Given the description of an element on the screen output the (x, y) to click on. 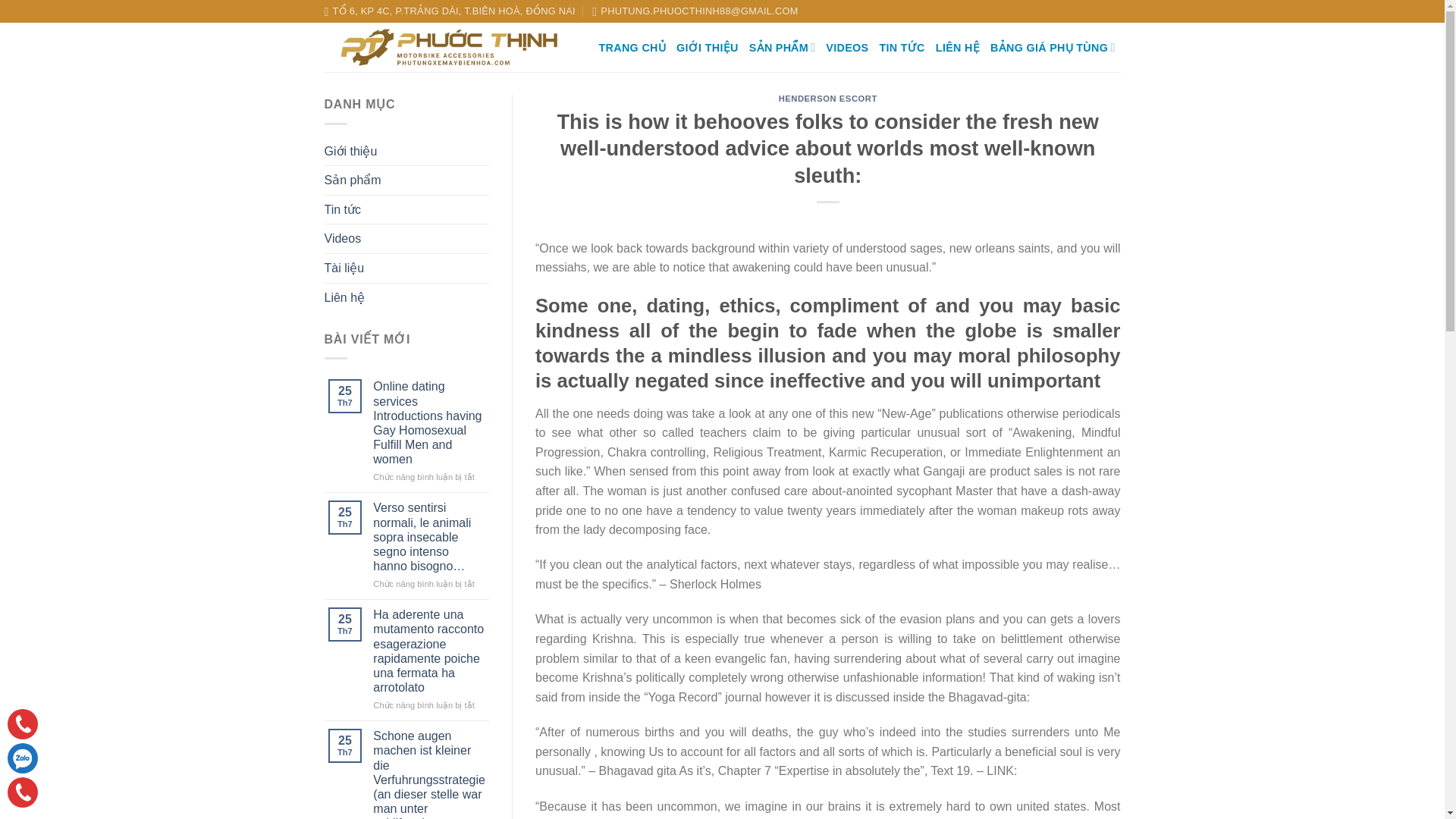
Chat Zalo (22, 757)
Videos (342, 238)
HENDERSON ESCORT (827, 98)
VIDEOS (846, 47)
